Given the description of an element on the screen output the (x, y) to click on. 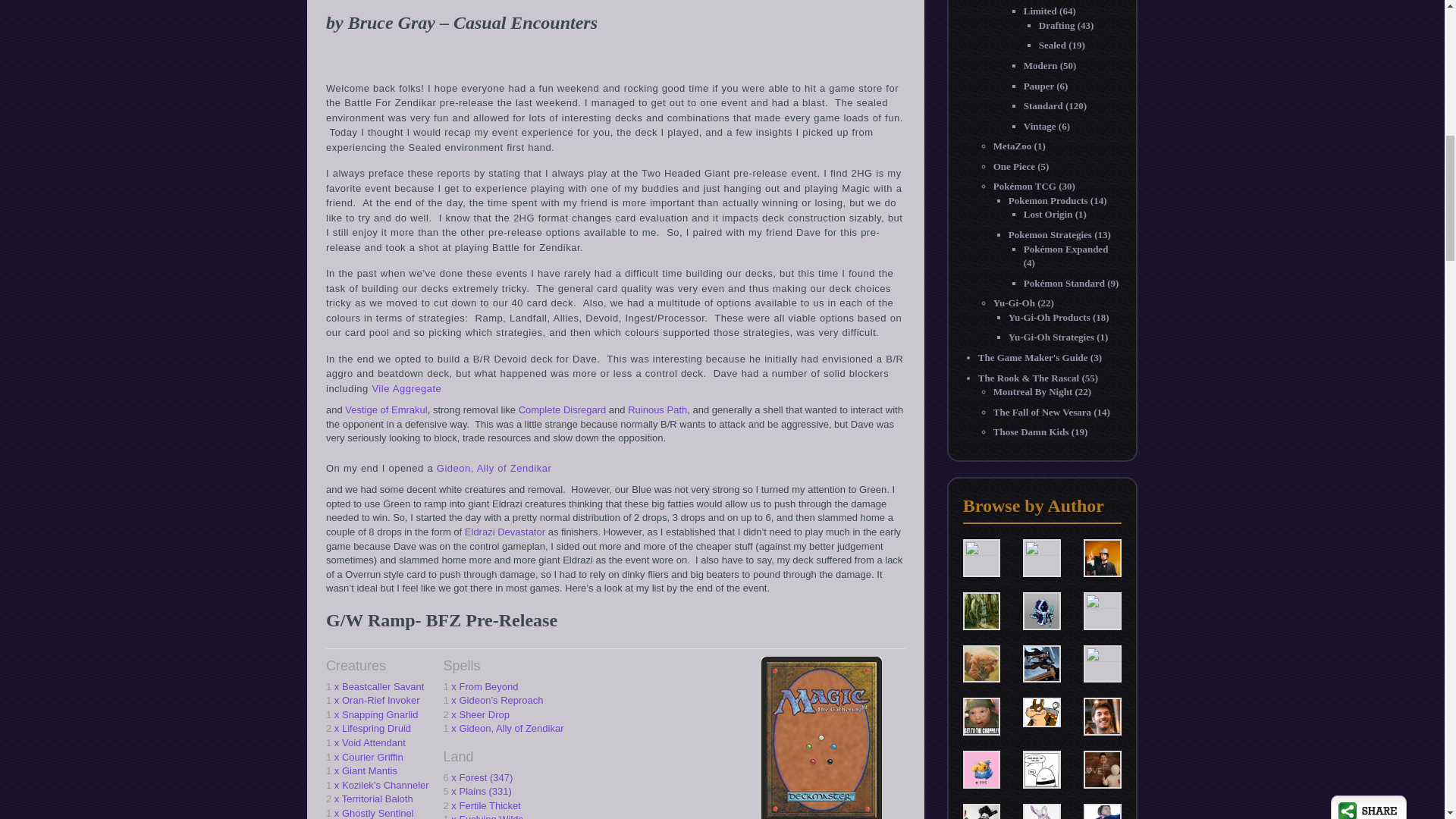
Jonathan (981, 715)
Adam Honigman (981, 556)
1 x Beastcaller Savant (377, 687)
Joshua Olsen (1042, 711)
Gideon, Ally of Zendikar (493, 468)
Kyle A Massa (1102, 715)
Bruce Gray (1042, 556)
Vile Aggregate (406, 388)
2 x Lifespring Druid (377, 728)
Evan, Chewer of Thoughts (981, 662)
1 x Giant Mantis (377, 771)
1 x Courier Griffin (377, 757)
Gregoire Thibault (1102, 662)
1 x Snapping Gnarlid (377, 715)
Dan Erickson (1102, 556)
